Given the description of an element on the screen output the (x, y) to click on. 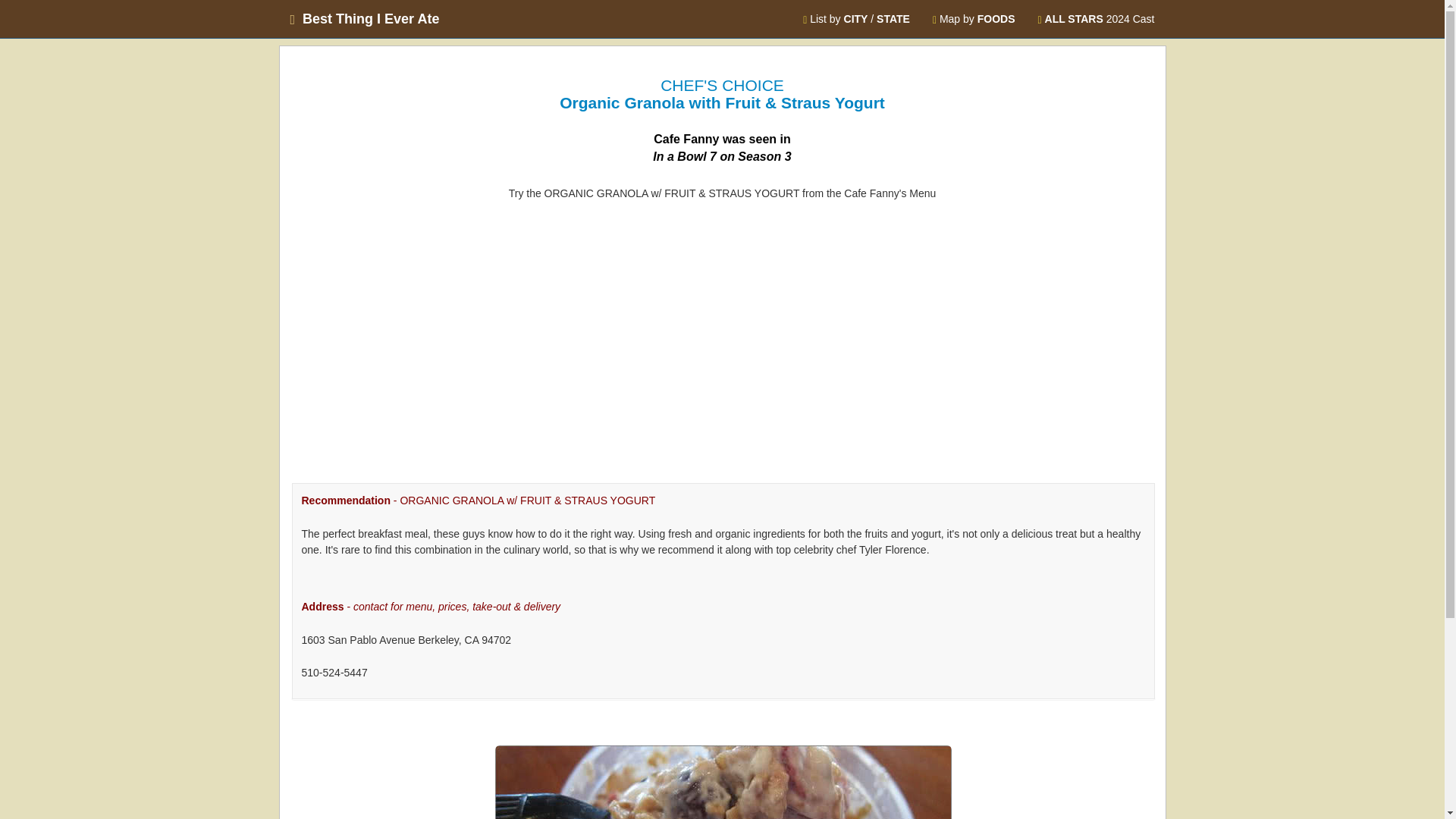
Best Thing I Ever Ate (365, 18)
ALL STARS 2024 Cast (1096, 18)
Map by FOODS (973, 18)
